Given the description of an element on the screen output the (x, y) to click on. 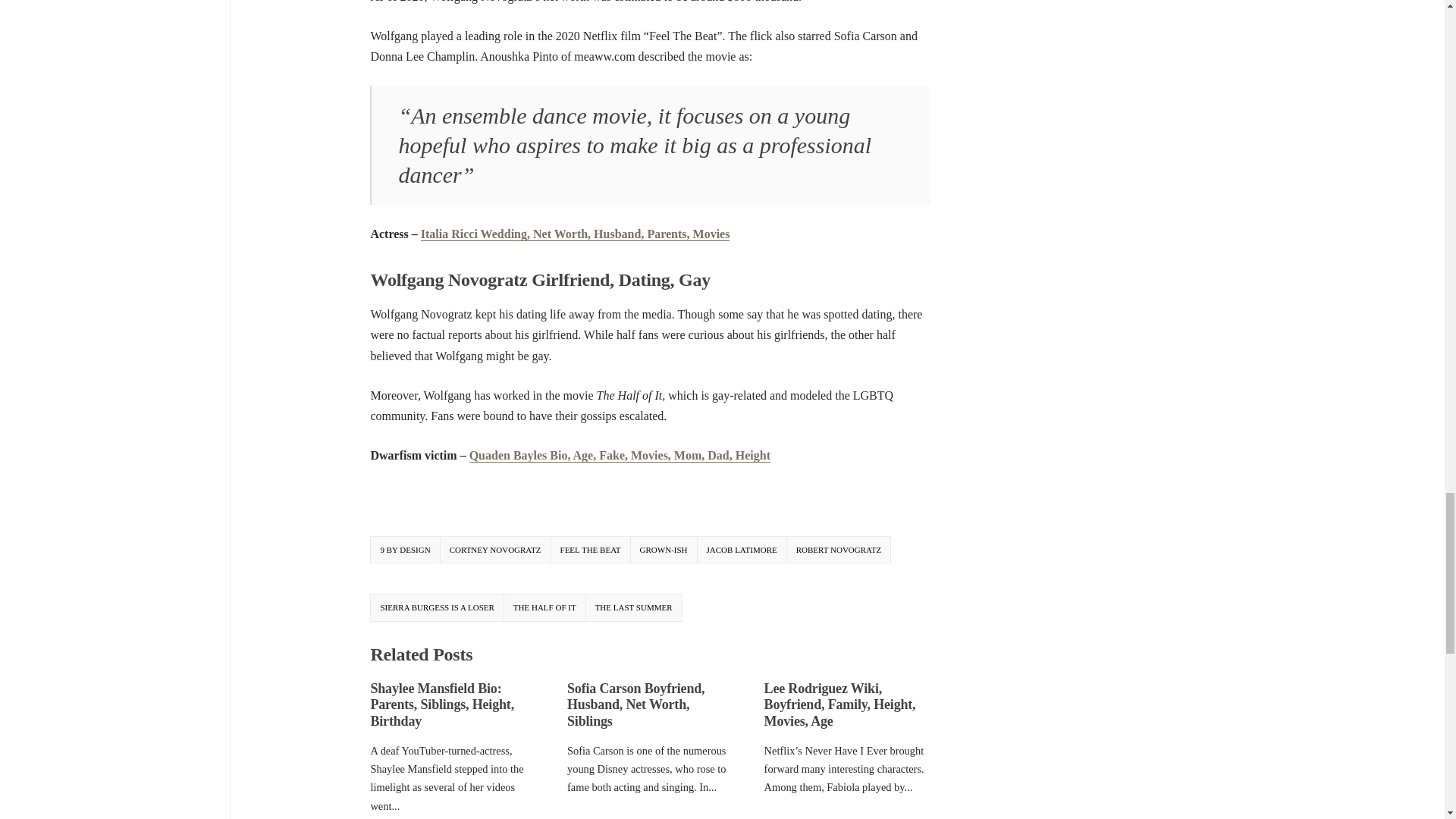
Lee Rodriguez Wiki, Boyfriend, Family, Height, Movies, Age (839, 704)
Italia Ricci Wedding, Net Worth, Husband, Parents, Movies (575, 233)
JACOB LATIMORE (742, 550)
CORTNEY NOVOGRATZ (495, 550)
THE LAST SUMMER (633, 607)
Shaylee Mansfield Bio: Parents, Siblings, Height, Birthday (441, 704)
Quaden Bayles Bio, Age, Fake, Movies, Mom, Dad, Height (619, 455)
Sofia Carson Boyfriend, Husband, Net Worth, Siblings (635, 704)
GROWN-ISH (663, 550)
THE HALF OF IT (544, 607)
ROBERT NOVOGRATZ (838, 550)
9 BY DESIGN (404, 550)
SIERRA BURGESS IS A LOSER (436, 607)
FEEL THE BEAT (590, 550)
